Given the description of an element on the screen output the (x, y) to click on. 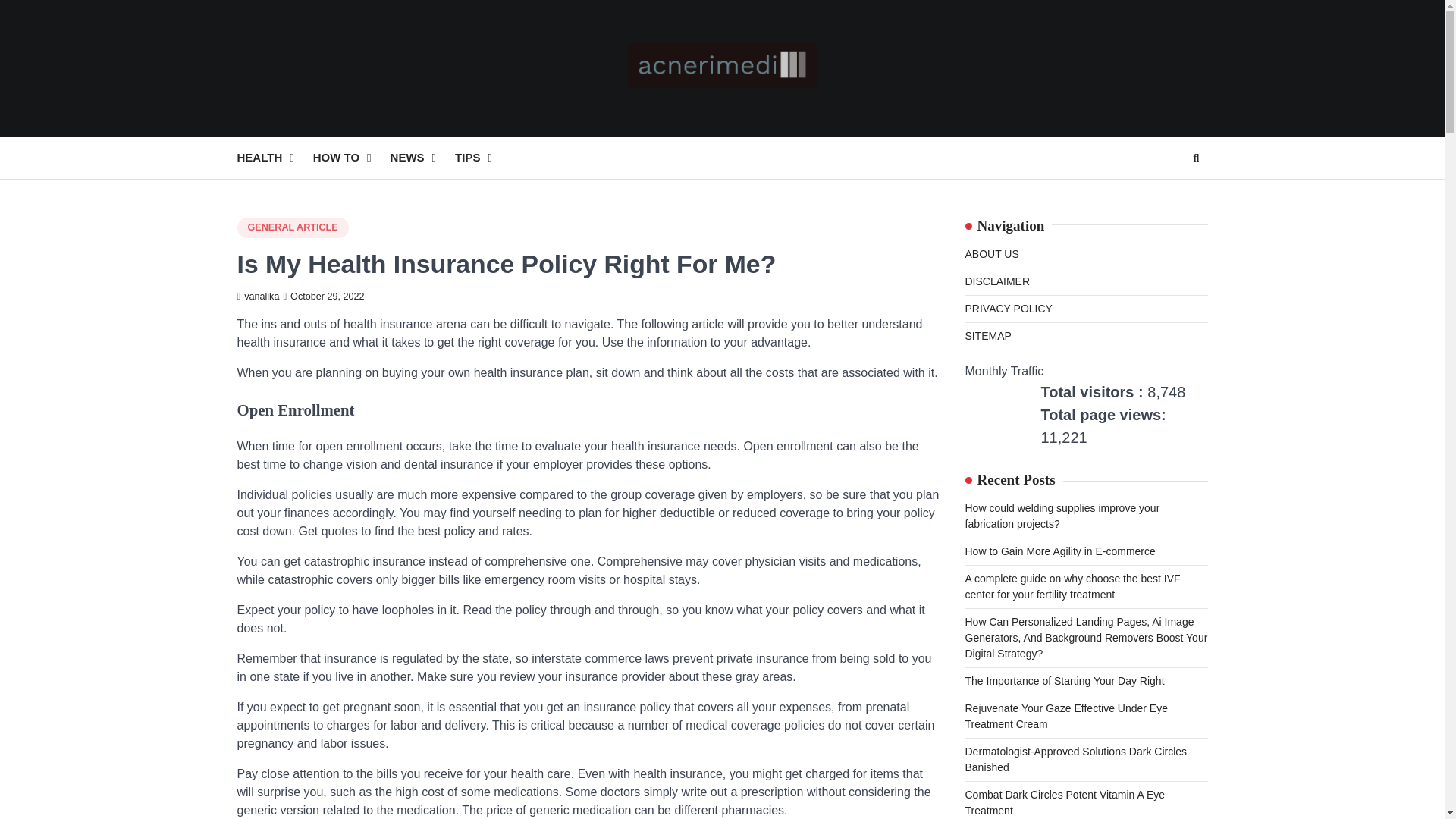
vanalika (257, 296)
TIPS (482, 158)
Search (1196, 158)
GENERAL ARTICLE (291, 227)
ABOUT US (990, 254)
HEALTH (274, 158)
October 29, 2022 (323, 296)
PRIVACY POLICY (1007, 308)
How to Gain More Agility in E-commerce (1058, 551)
